Given the description of an element on the screen output the (x, y) to click on. 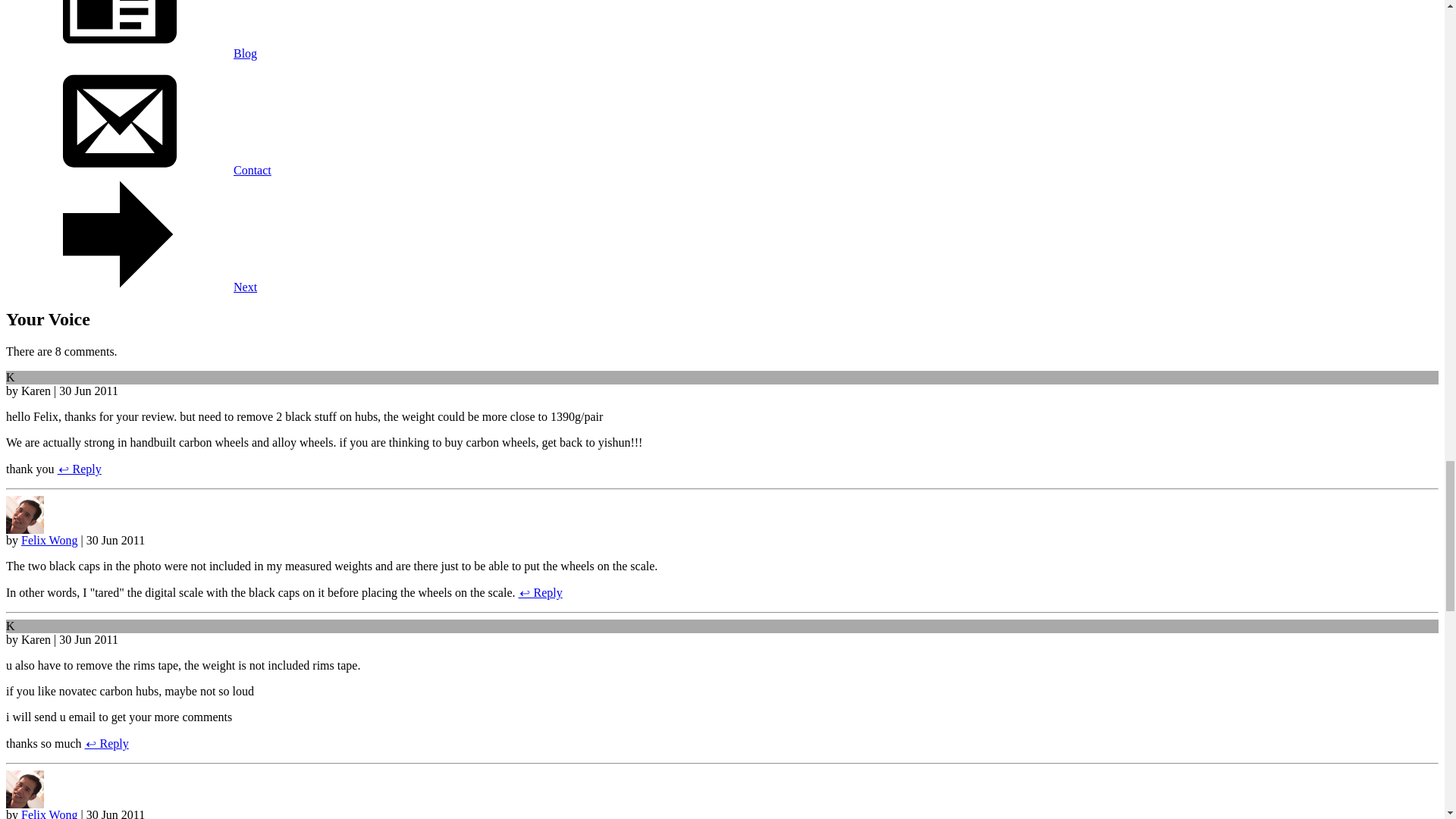
BlogBlog (131, 52)
Contact (118, 117)
Next blog post: Colorado Springs Getaway (118, 234)
Reply to Karen (79, 468)
ContactContact (137, 169)
Felix Wong (49, 540)
Reply to Felix (540, 592)
Bio for Felix Wong (24, 529)
Bio for Felix Wong (24, 803)
Next blog post: Colorado Springs GetawayNext (131, 286)
Reply to Karen (106, 743)
Felix Wong (49, 813)
Blog (118, 28)
